Given the description of an element on the screen output the (x, y) to click on. 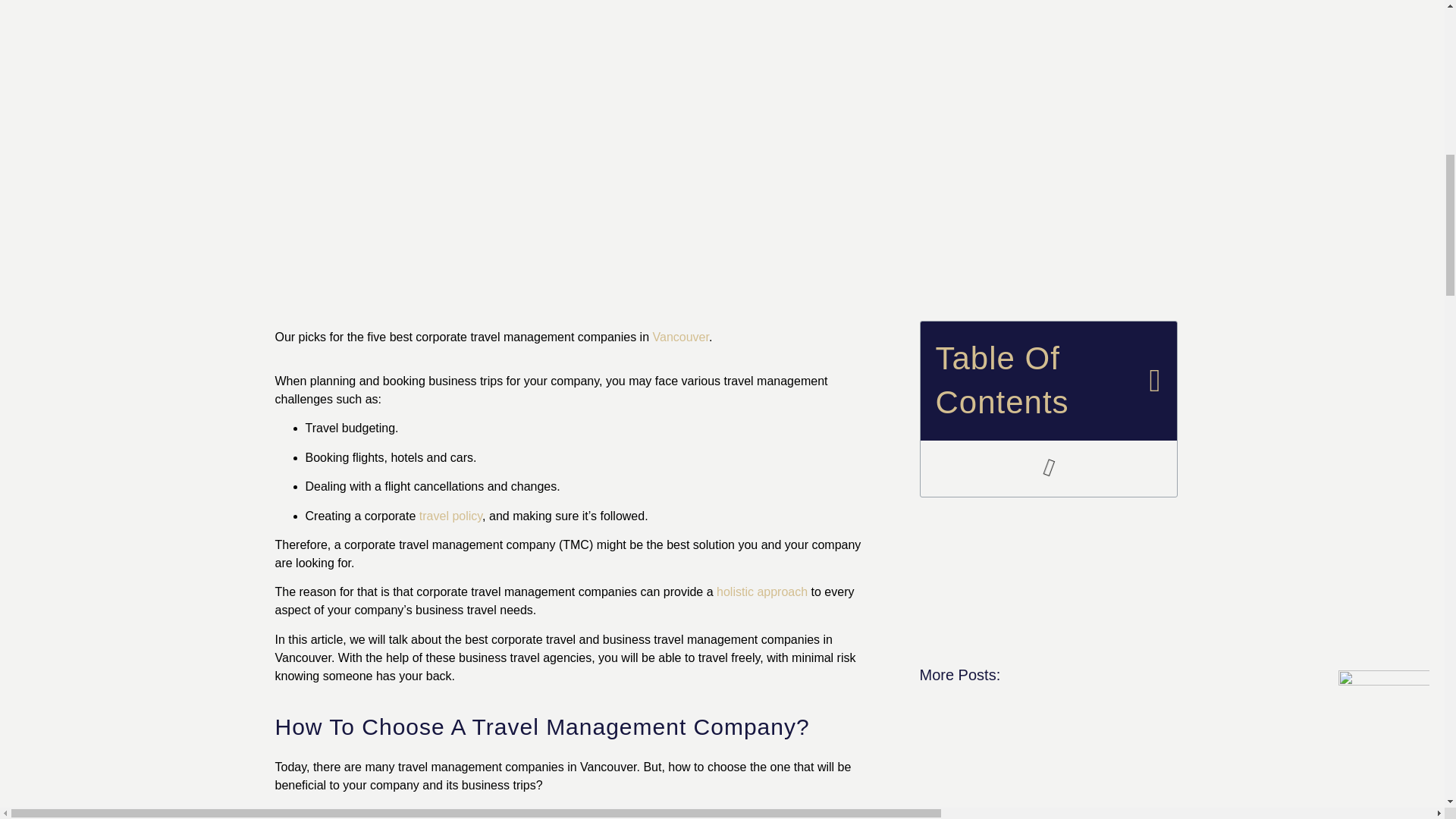
holistic approach (762, 591)
travel policy (450, 515)
Vancouver (680, 336)
